Given the description of an element on the screen output the (x, y) to click on. 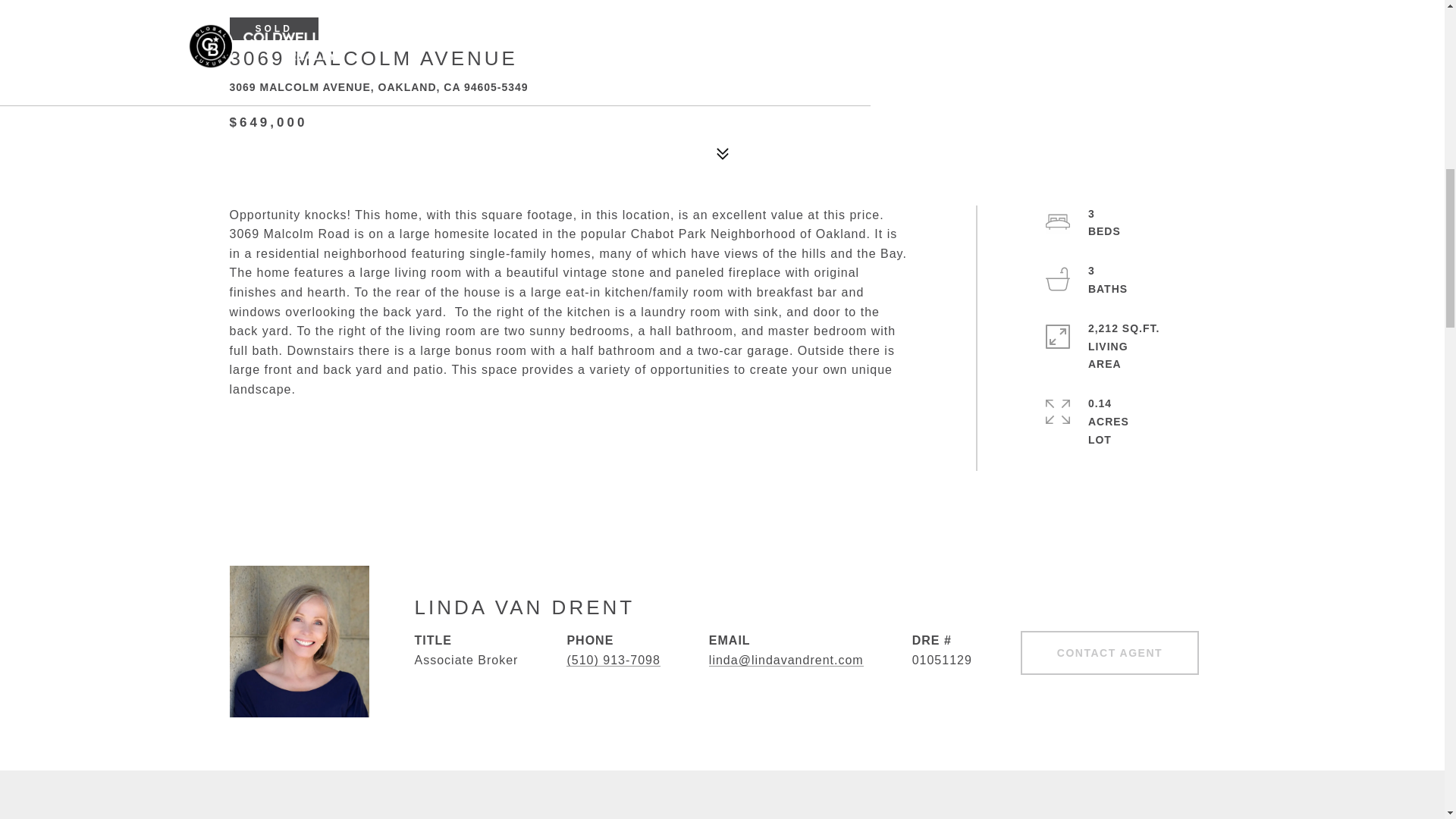
CONTACT AGENT (1109, 652)
